Given the description of an element on the screen output the (x, y) to click on. 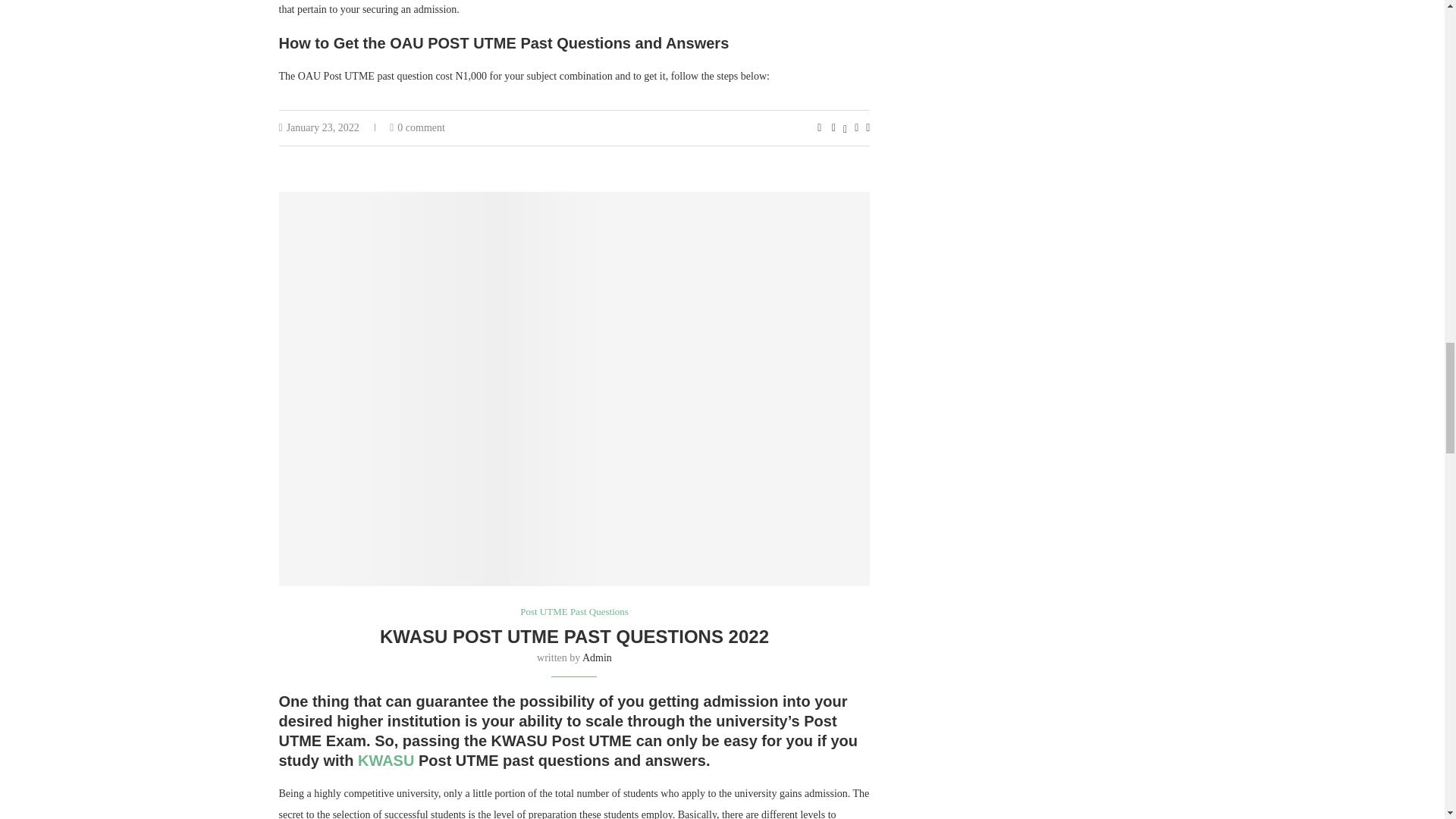
KWASU POST UTME PAST QUESTIONS 2022 (574, 636)
Admin (596, 657)
KWASU (385, 760)
0 comment (417, 127)
Post UTME Past Questions (573, 612)
